Given the description of an element on the screen output the (x, y) to click on. 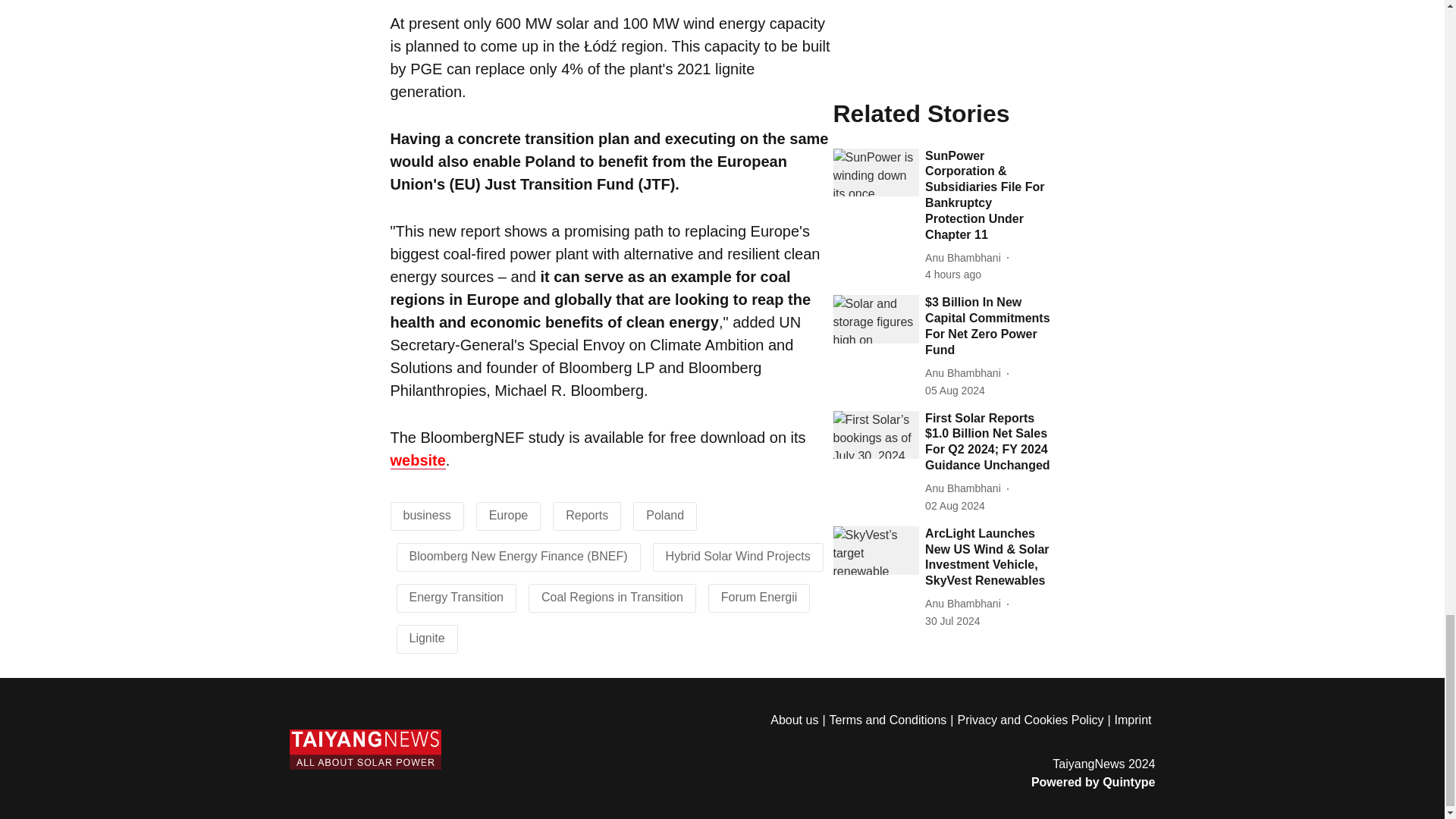
website (417, 460)
Forum Energii (758, 595)
Hybrid Solar Wind Projects (737, 554)
Energy Transition (456, 595)
Reports (587, 513)
Poland (665, 513)
Coal Regions in Transition (611, 595)
Europe (508, 513)
business (427, 513)
Lignite (427, 636)
